Given the description of an element on the screen output the (x, y) to click on. 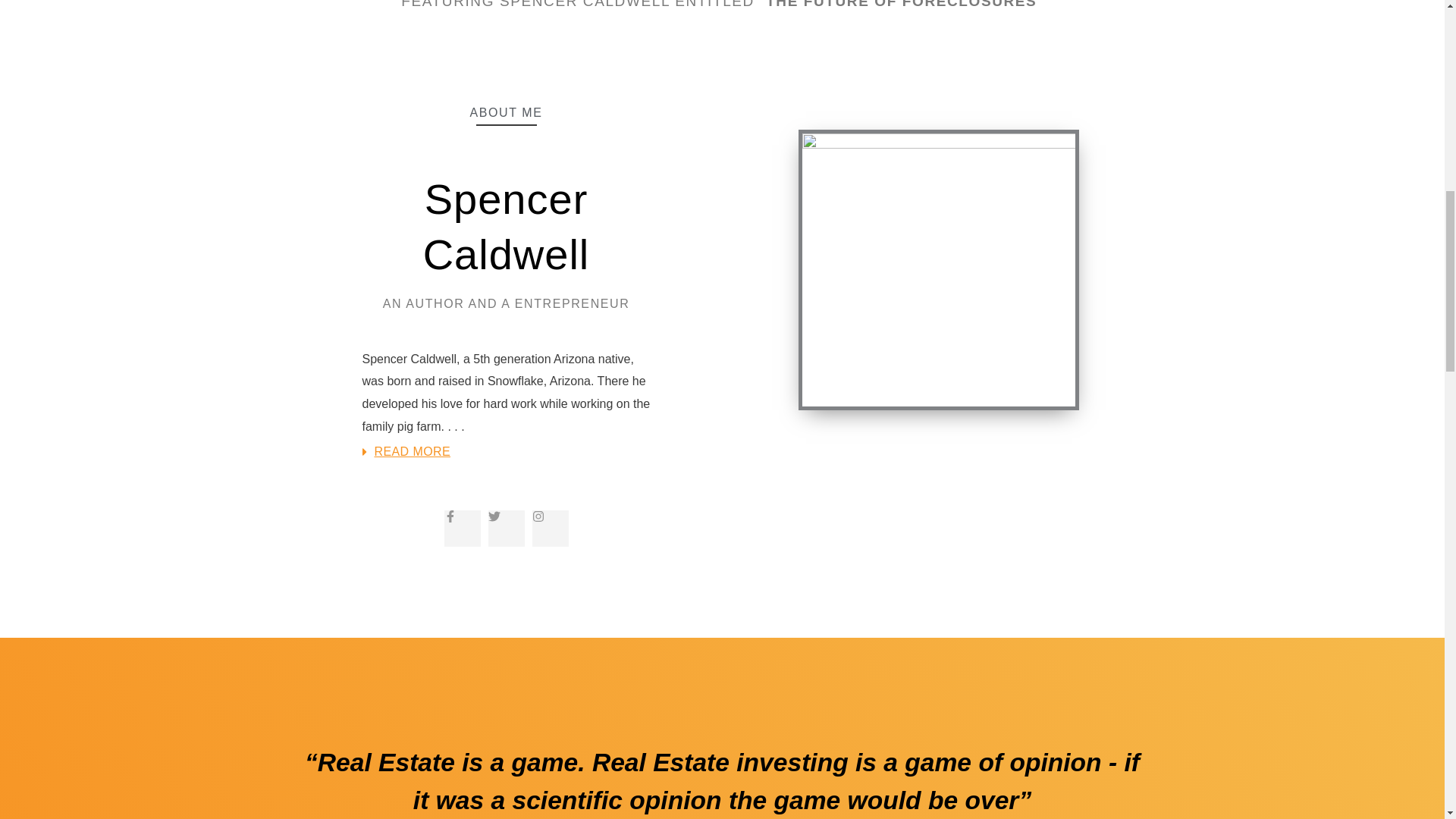
Facebook-f (462, 528)
Instagram (550, 528)
Twitter (505, 528)
READ MORE (412, 451)
